Given the description of an element on the screen output the (x, y) to click on. 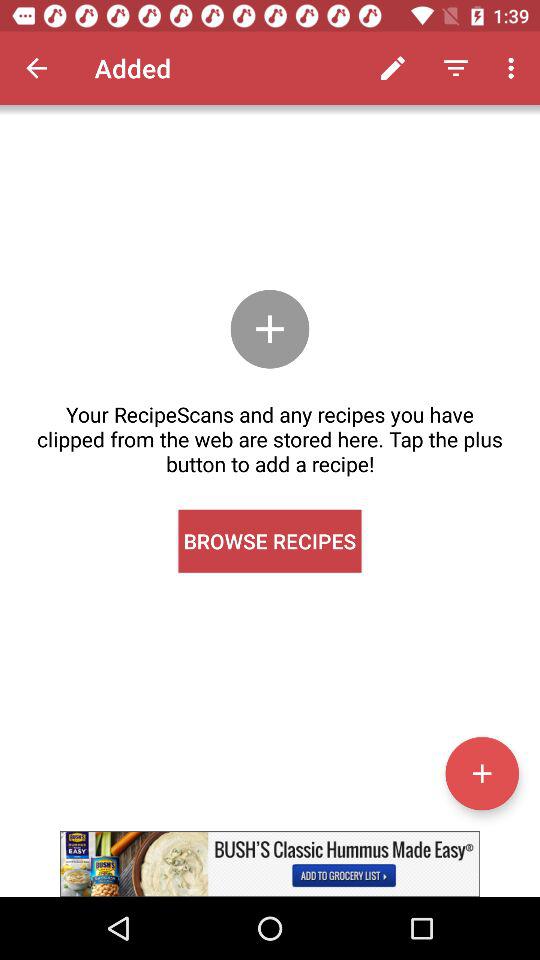
add a recipe (482, 773)
